Given the description of an element on the screen output the (x, y) to click on. 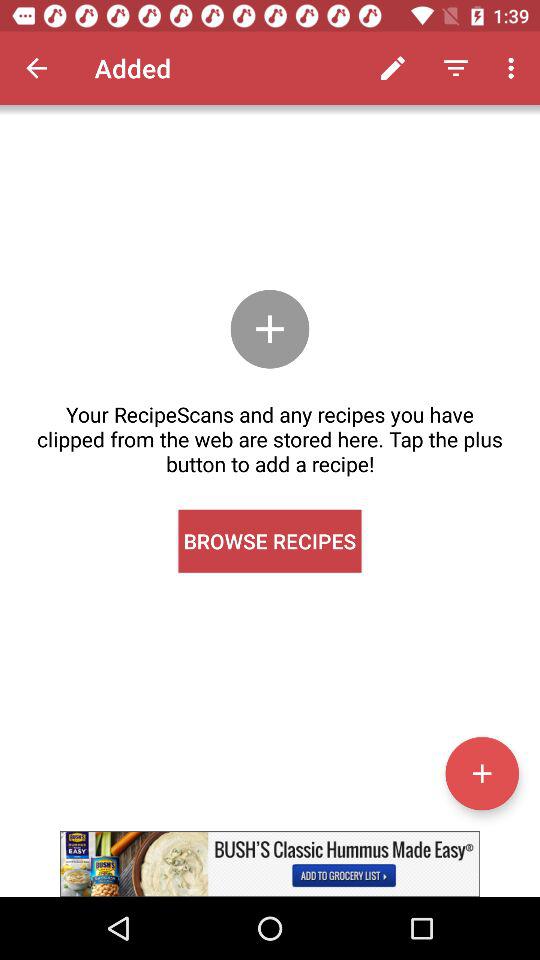
add a recipe (482, 773)
